Given the description of an element on the screen output the (x, y) to click on. 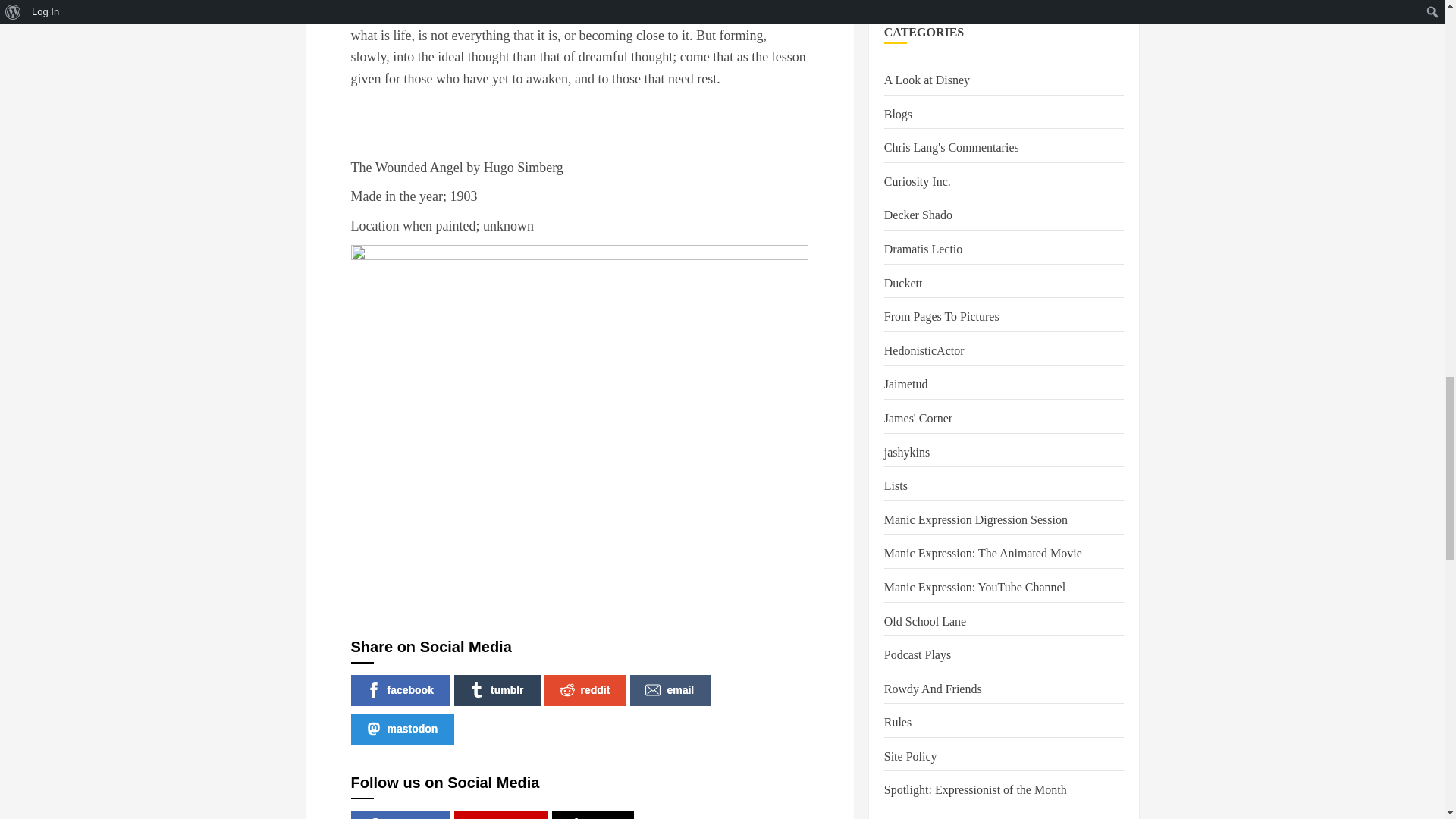
email (670, 689)
tumblr (497, 689)
facebook (399, 814)
mastodon (402, 728)
reddit (585, 689)
facebook (399, 689)
